Given the description of an element on the screen output the (x, y) to click on. 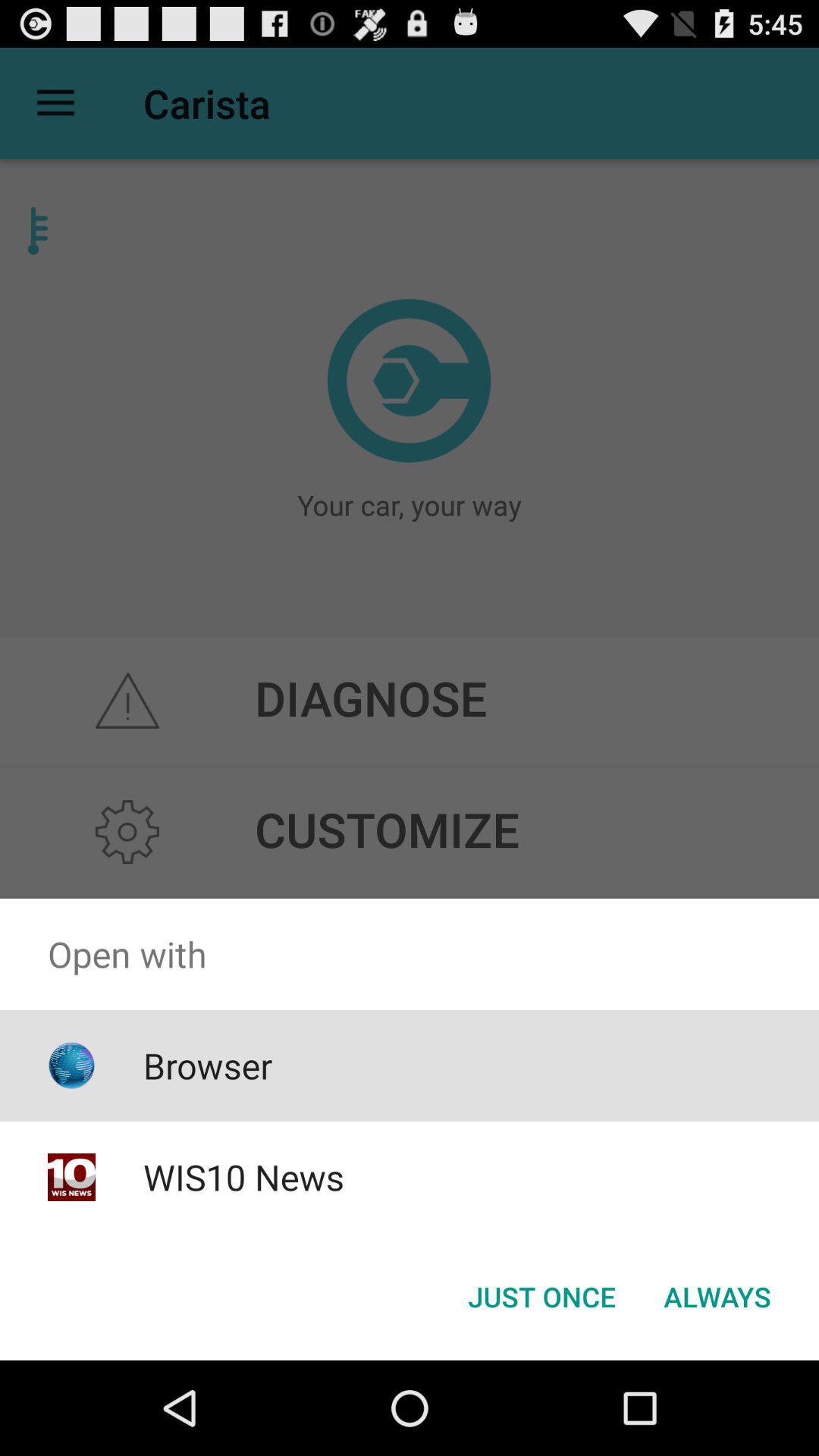
choose the icon at the bottom (541, 1296)
